Given the description of an element on the screen output the (x, y) to click on. 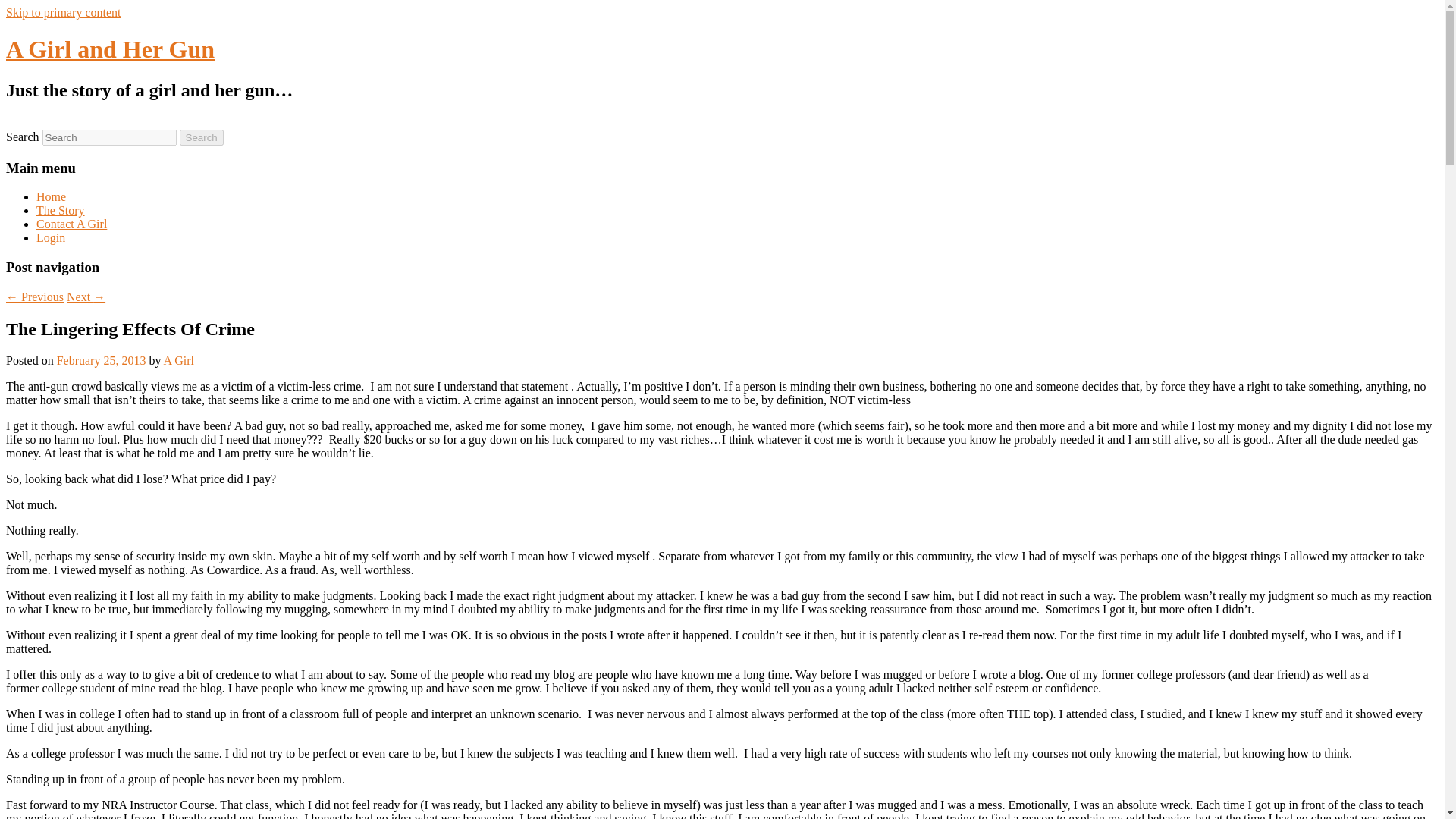
Search (201, 137)
Contact A Girl (71, 223)
The Story (60, 210)
Home (50, 196)
View all posts by A Girl (178, 359)
Search (201, 137)
22:51 (101, 359)
A Girl (178, 359)
Skip to primary content (62, 11)
A Girl and Her Gun (109, 49)
Login (50, 237)
February 25, 2013 (101, 359)
